Given the description of an element on the screen output the (x, y) to click on. 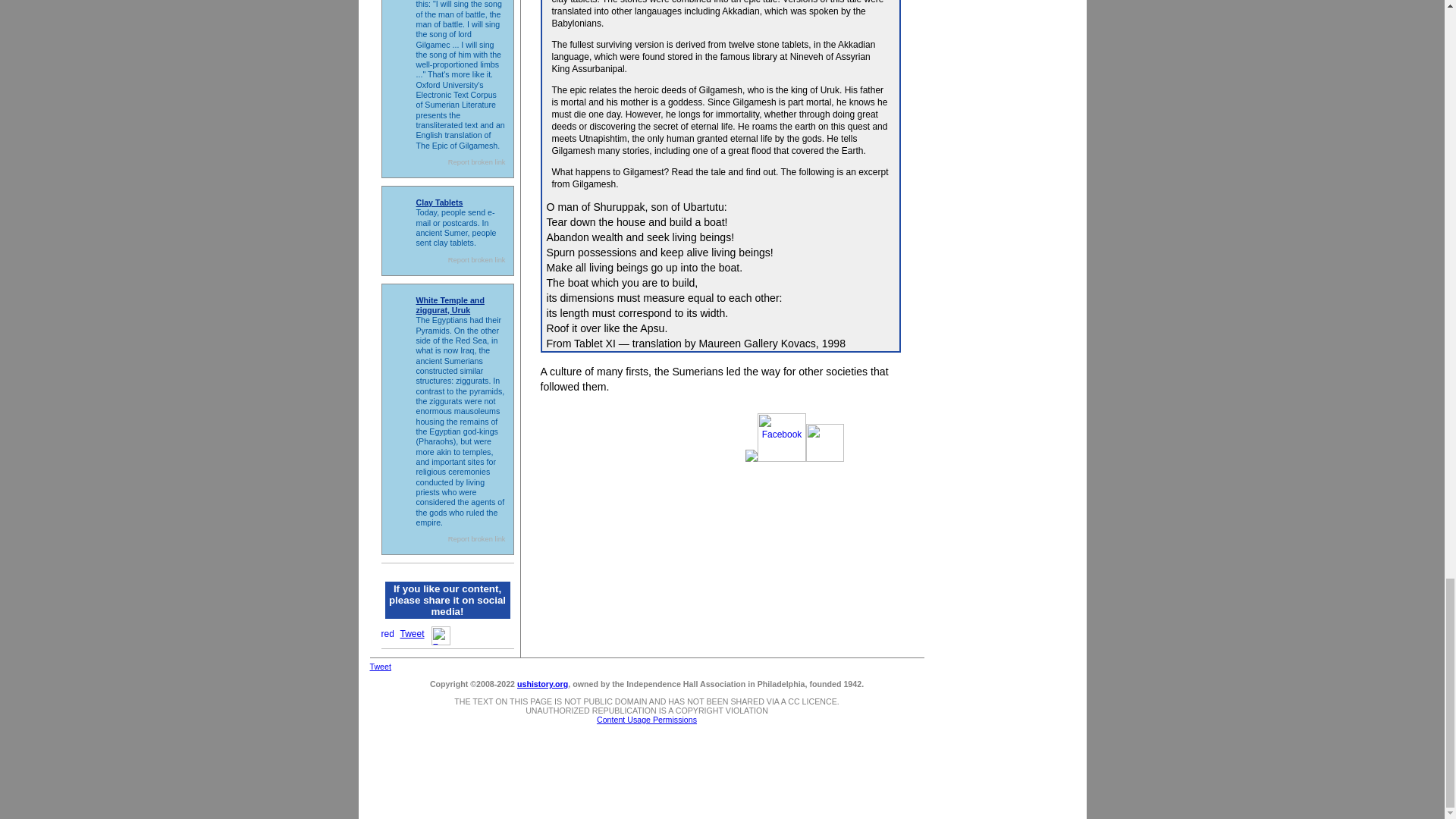
Report broken link (476, 259)
Tweet (412, 633)
White Temple and ziggurat, Uruk (448, 304)
The Broken Link reporting feature is temporarily unavailable (476, 259)
The Broken Link reporting feature is temporarily unavailable (476, 162)
Report broken link (476, 162)
Report broken link (476, 538)
Clay Tablets (438, 202)
